Given the description of an element on the screen output the (x, y) to click on. 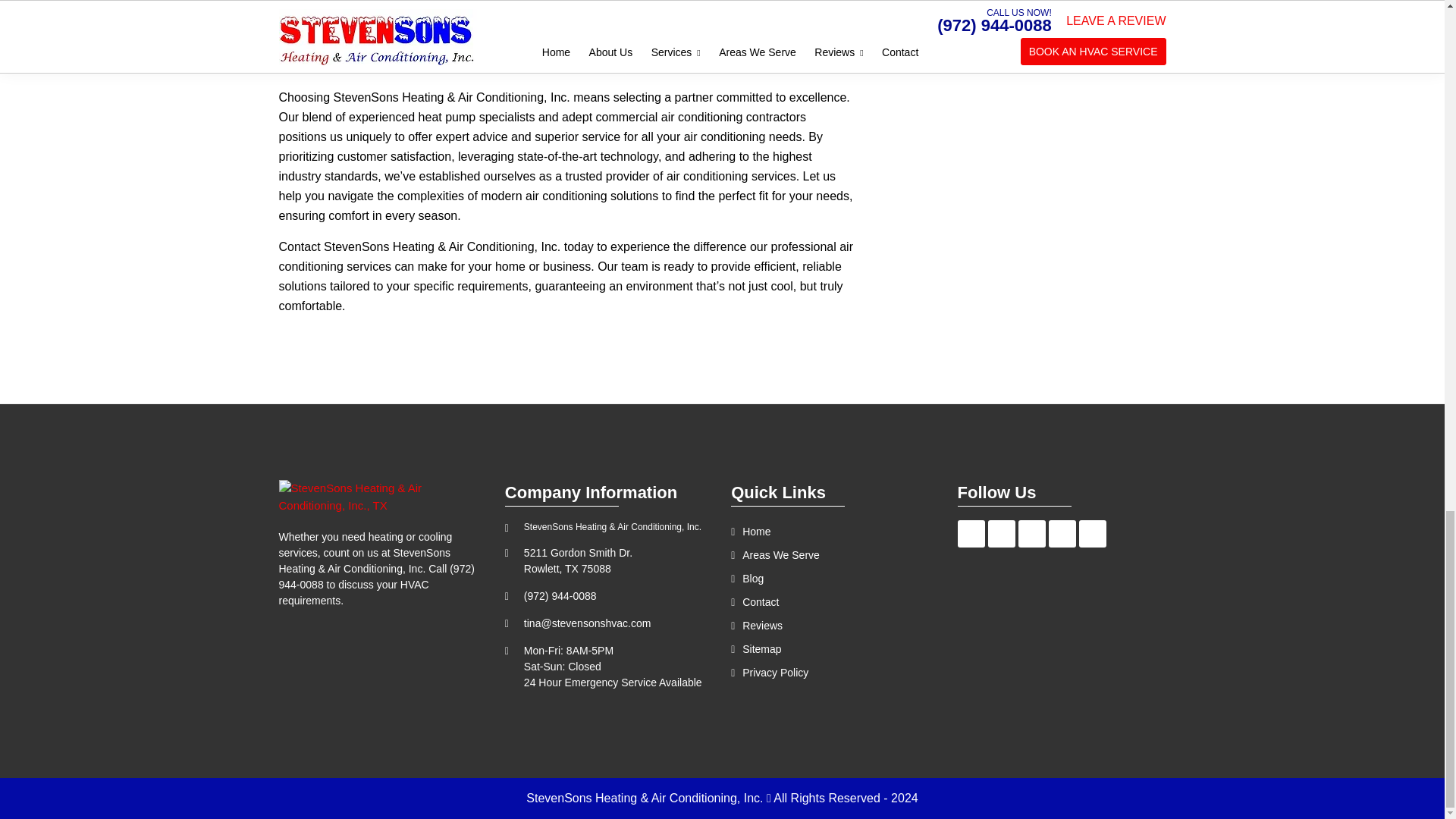
View Our Instagram Profile (1092, 533)
View Our Google Business Profile (1001, 533)
View Our Yelp Profile (1061, 533)
Visit Our Facebook Page (971, 533)
Twitter (1031, 533)
